Given the description of an element on the screen output the (x, y) to click on. 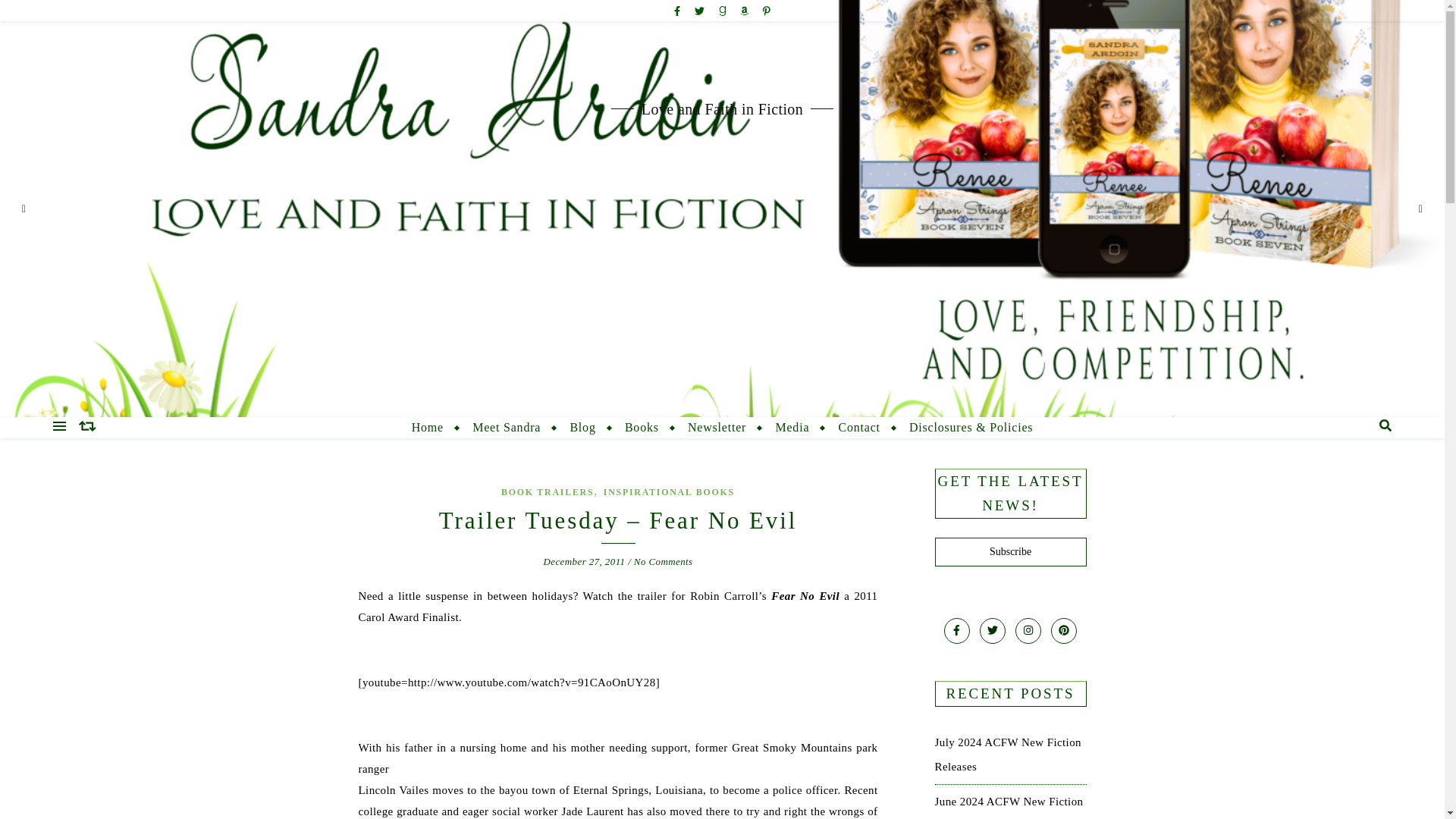
Newsletter (716, 427)
Books (641, 427)
Home (434, 427)
Media (791, 427)
Blog (582, 427)
Meet Sandra (506, 427)
Contact (858, 427)
BOOK TRAILERS (547, 491)
Subscribe (1010, 551)
